Given the description of an element on the screen output the (x, y) to click on. 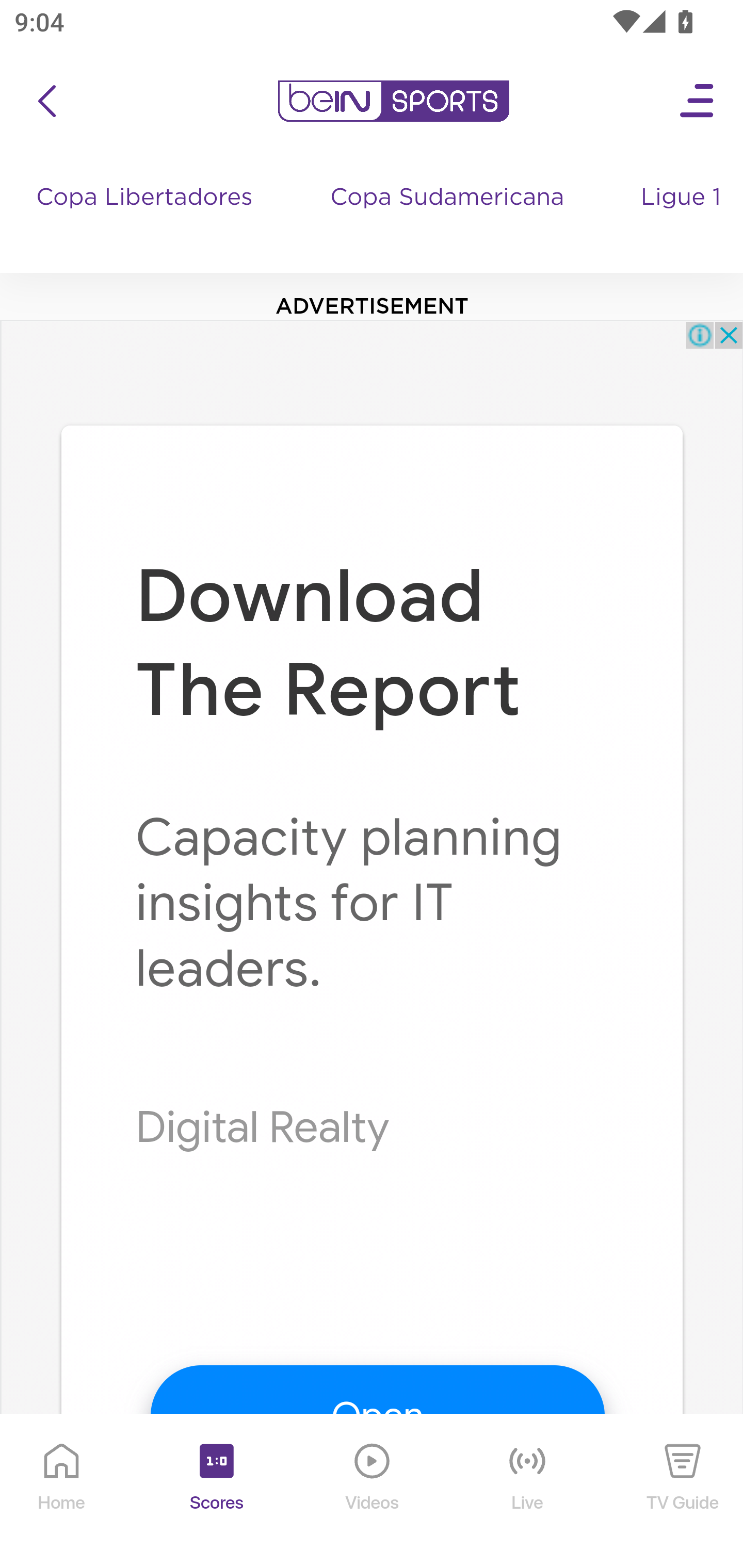
en-us?platform=mobile_android bein logo (392, 101)
icon back (46, 101)
Open Menu Icon (697, 101)
Copa Libertadores (146, 216)
Copa Sudamericana (448, 216)
Ligue 1 (682, 216)
Download The Report Download The Report (329, 643)
Digital Realty (262, 1127)
Home Home Icon Home (61, 1491)
Scores Scores Icon Scores (216, 1491)
Videos Videos Icon Videos (372, 1491)
TV Guide TV Guide Icon TV Guide (682, 1491)
